Given the description of an element on the screen output the (x, y) to click on. 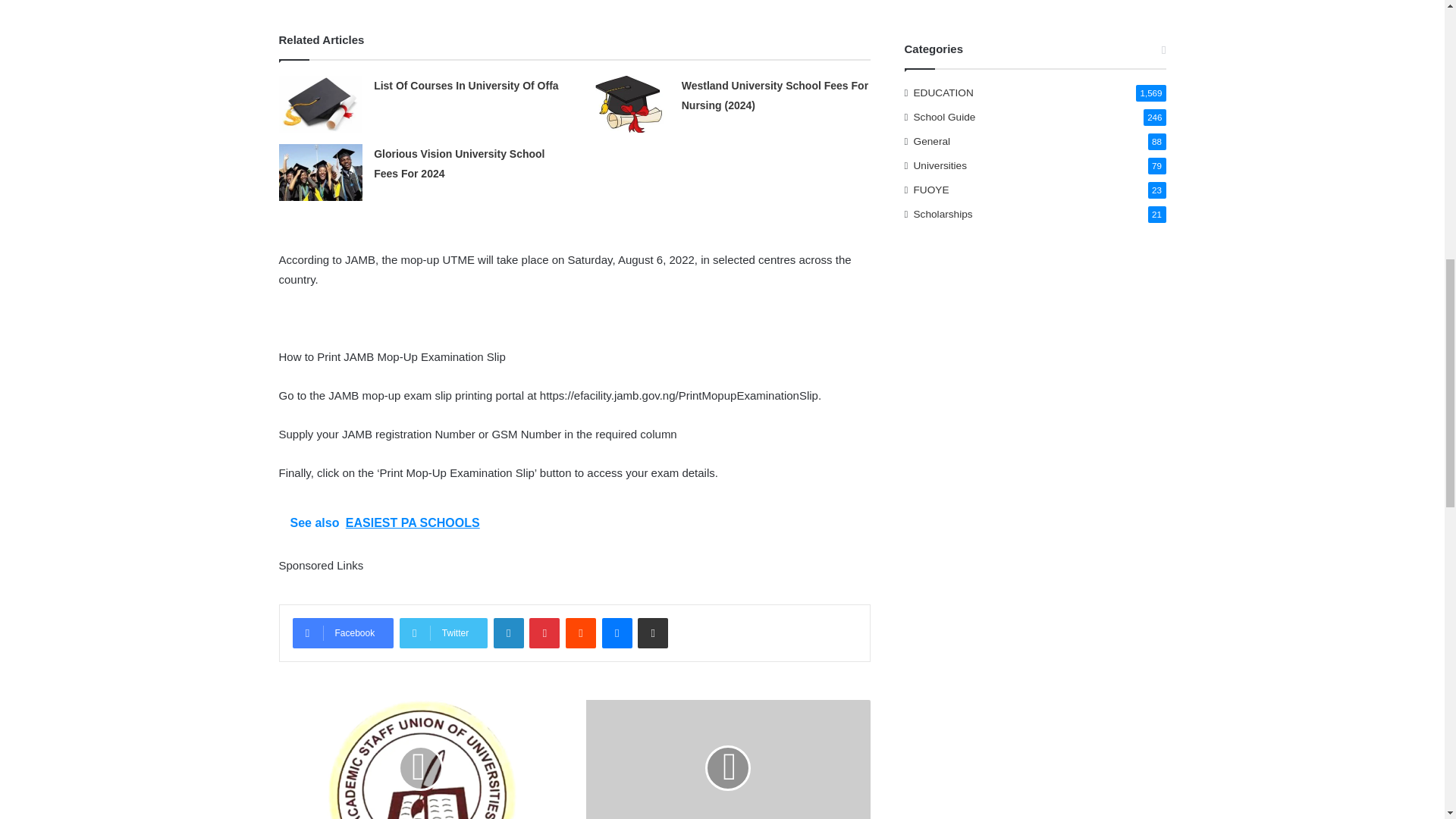
List Of Courses In University Of Offa (466, 85)
Pinterest (544, 633)
LinkedIn (508, 633)
Share via Email (652, 633)
Reddit (580, 633)
Reddit (580, 633)
Twitter (442, 633)
See also  EASIEST PA SCHOOLS (574, 523)
Messenger (616, 633)
Pinterest (544, 633)
Facebook (343, 633)
Glorious Vision University School Fees For 2024 (459, 163)
Facebook (343, 633)
Messenger (616, 633)
LinkedIn (508, 633)
